Given the description of an element on the screen output the (x, y) to click on. 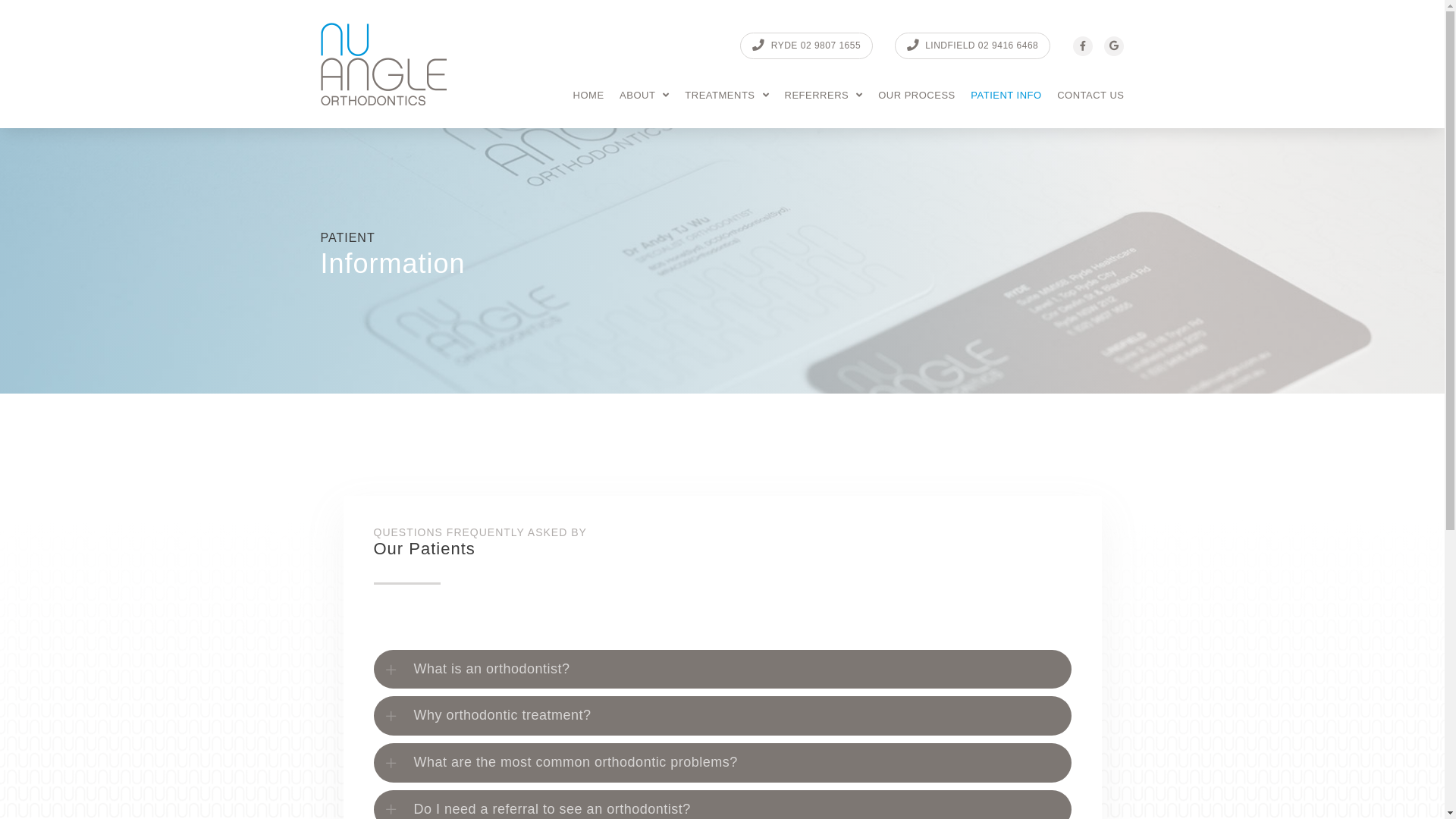
PATIENT INFO Element type: text (1005, 95)
LINDFIELD 02 9416 6468 Element type: text (972, 45)
nu-angle-stack-2x Element type: hover (383, 63)
TREATMENTS Element type: text (726, 95)
HOME Element type: text (588, 95)
CONTACT US Element type: text (1090, 95)
REFERRERS Element type: text (823, 95)
ABOUT Element type: text (644, 95)
OUR PROCESS Element type: text (916, 95)
RYDE 02 9807 1655 Element type: text (806, 45)
